Given the description of an element on the screen output the (x, y) to click on. 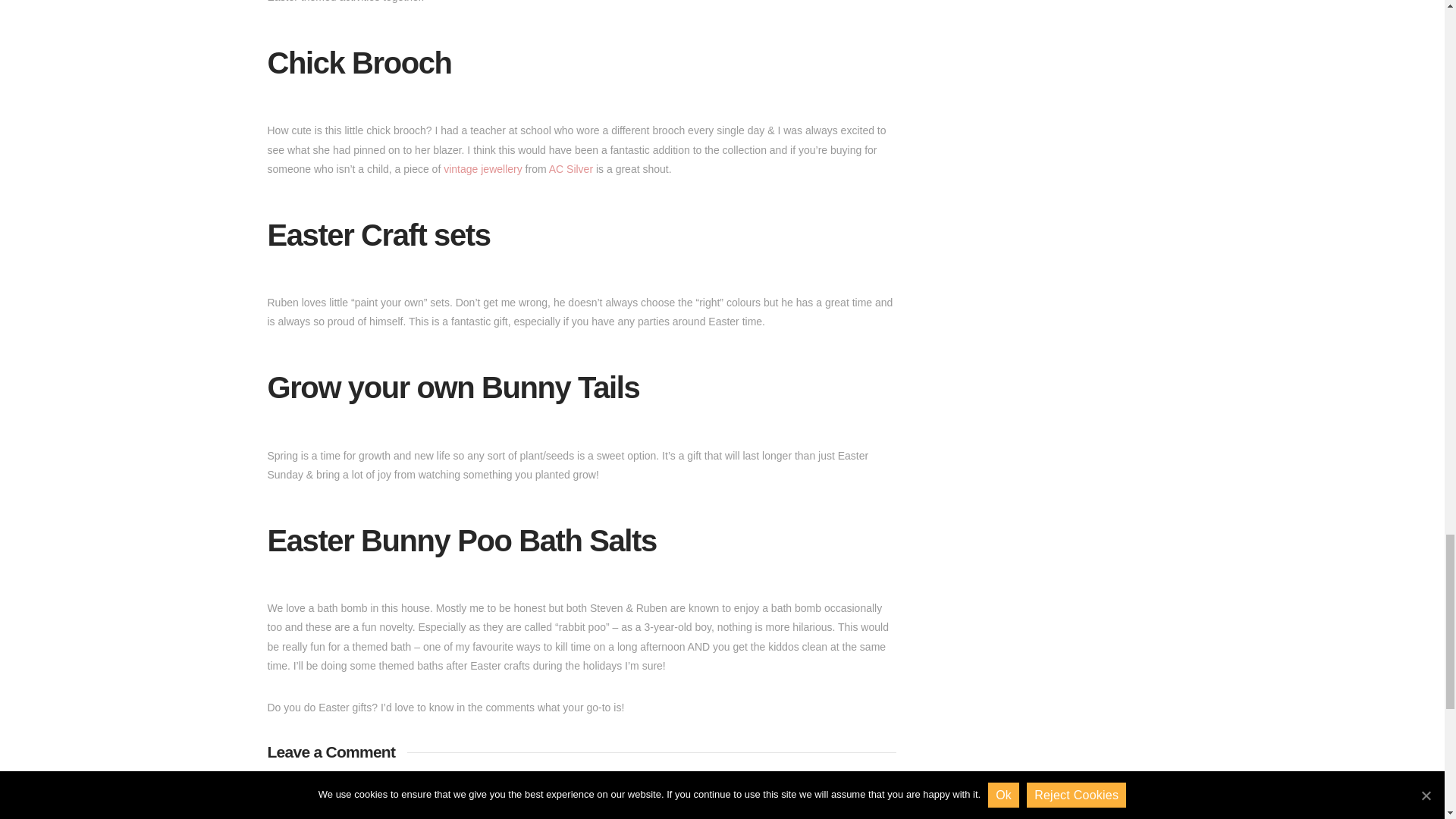
vintage jewellery (483, 168)
Grow your own Bunny Tails (452, 387)
AC Silver (570, 168)
Chick Brooch (358, 62)
Easter Craft sets (377, 234)
Easter Bunny Poo Bath Salts (461, 540)
